Given the description of an element on the screen output the (x, y) to click on. 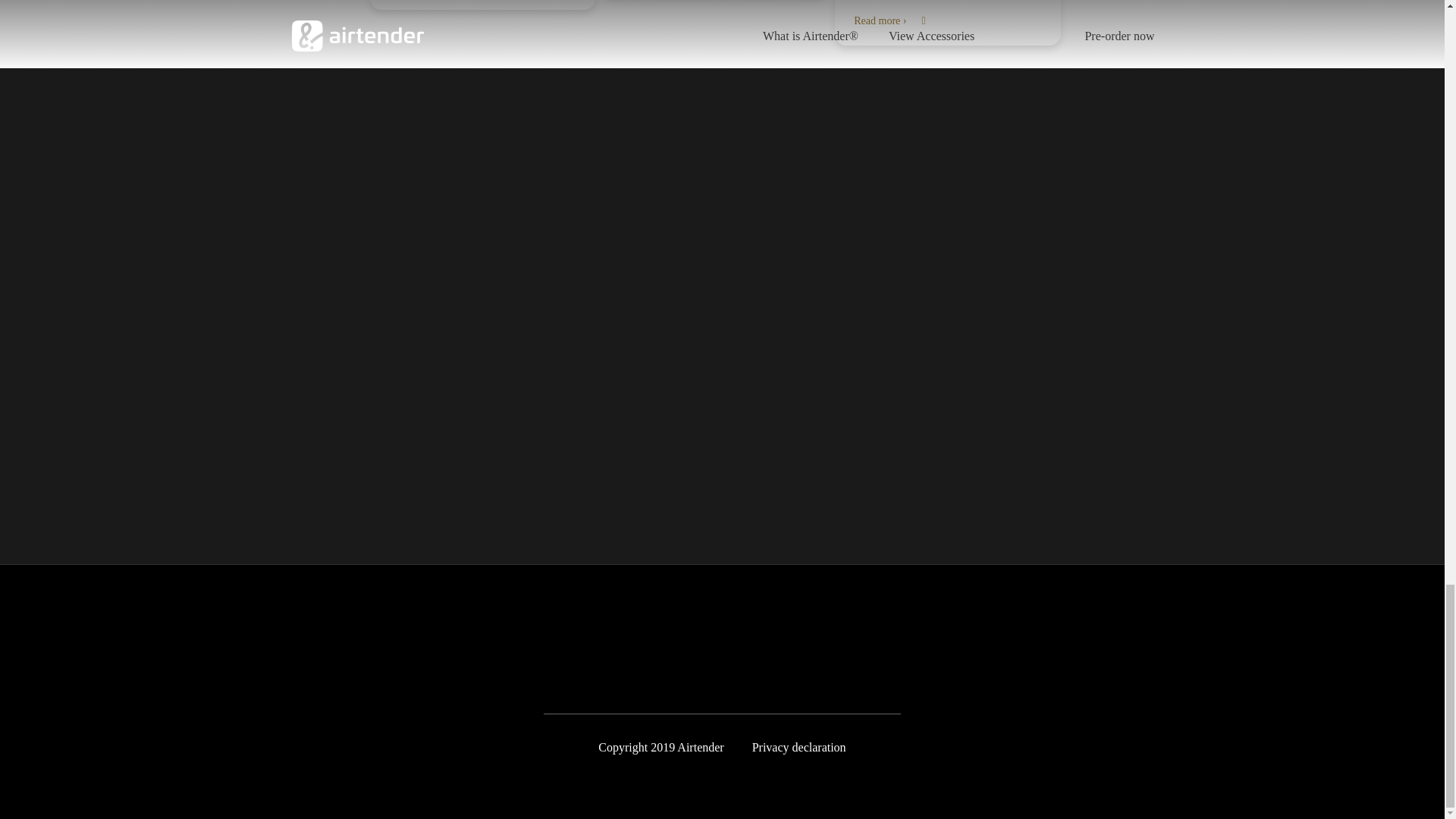
Privacy declaration (798, 747)
Confirm pre-order (718, 437)
